Given the description of an element on the screen output the (x, y) to click on. 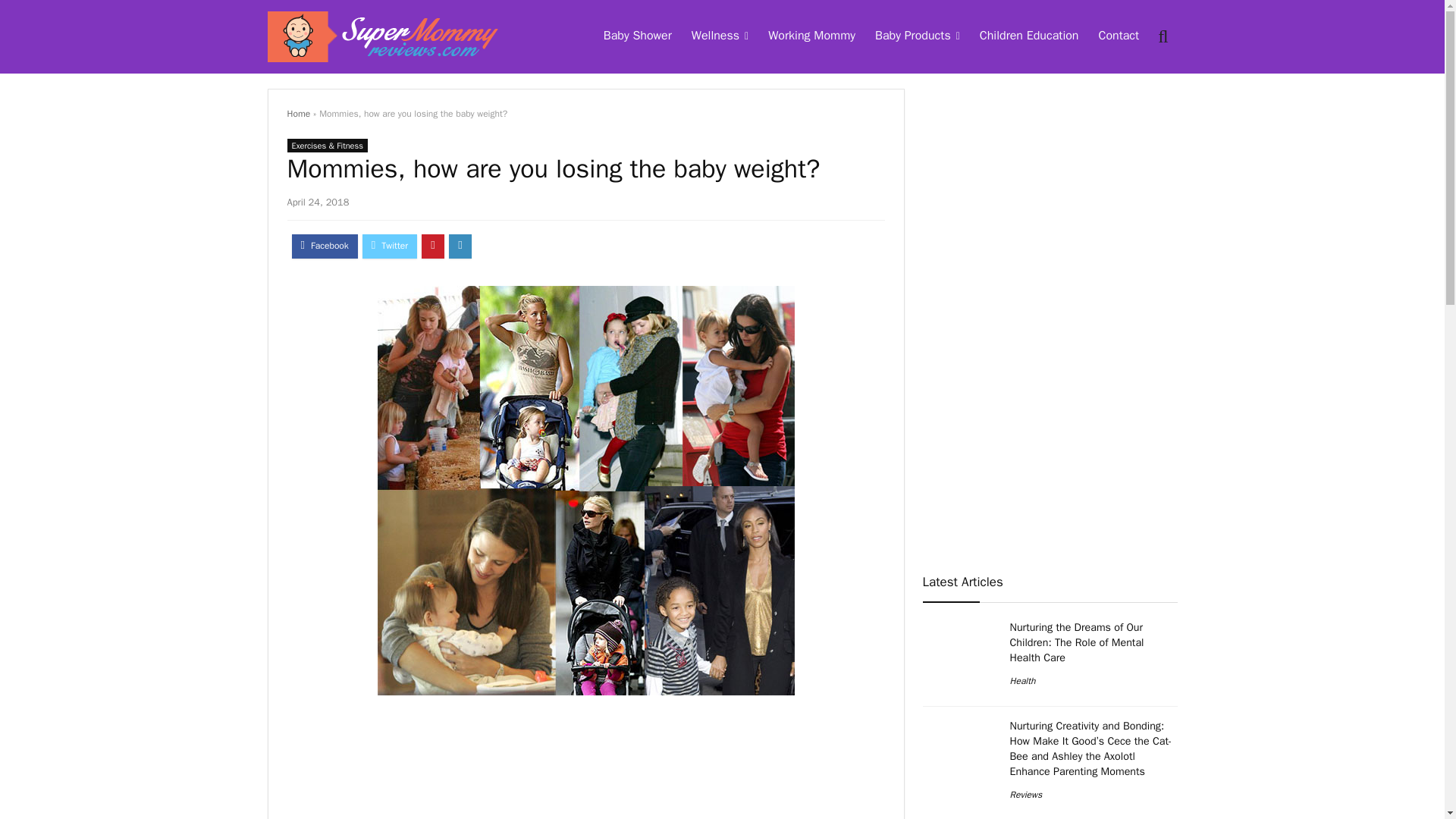
Health (1022, 680)
Baby Shower (637, 36)
Wellness (719, 36)
Baby Products (916, 36)
Contact (1117, 36)
Home (298, 113)
Working Mommy (811, 36)
Children Education (1029, 36)
